Given the description of an element on the screen output the (x, y) to click on. 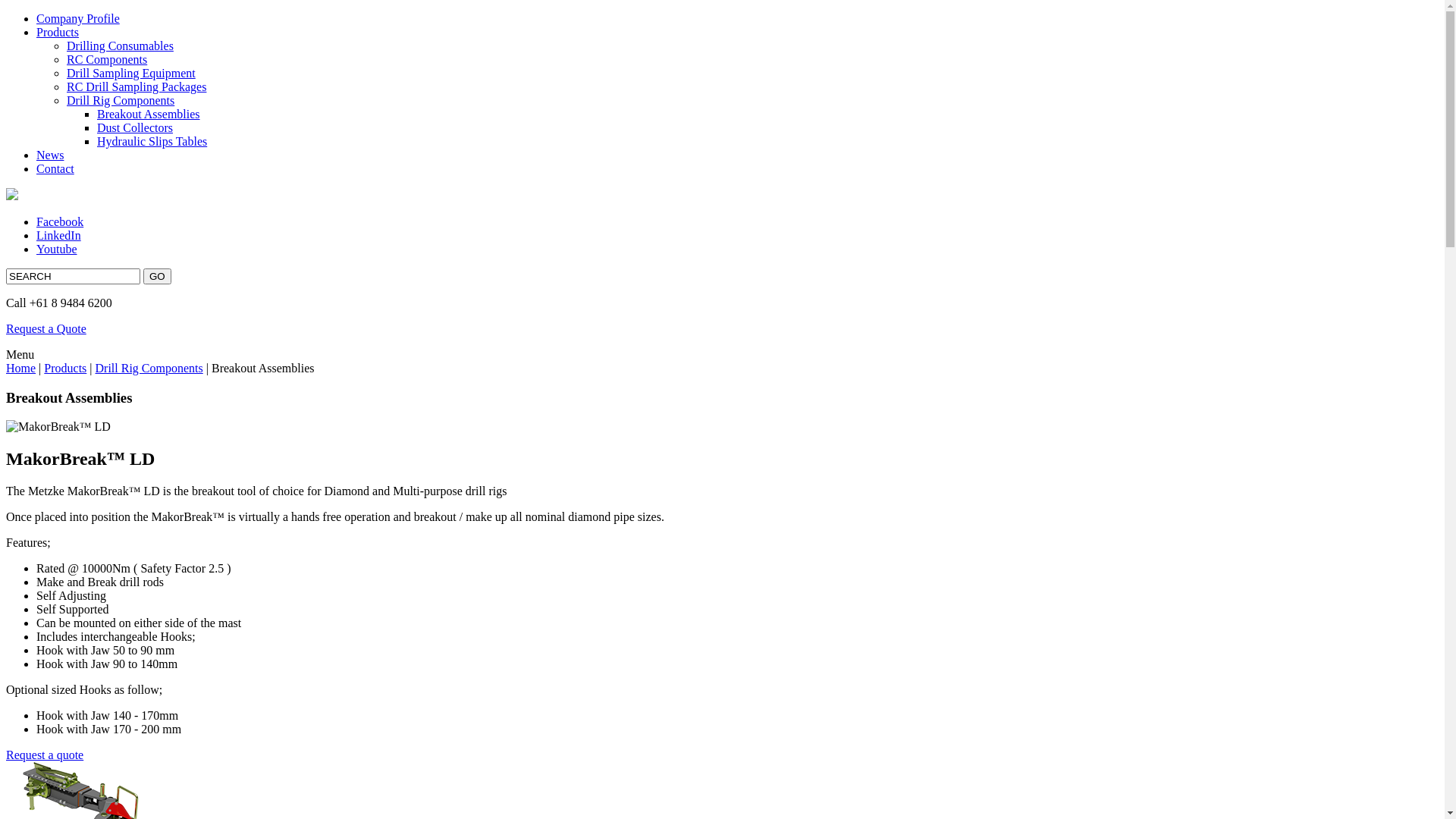
LinkedIn Element type: text (58, 235)
Contact Element type: text (55, 168)
Drilling Consumables Element type: text (119, 45)
Drill Sampling Equipment Element type: text (130, 72)
Drill Rig Components Element type: text (120, 100)
Menu Element type: text (20, 354)
Company Profile Element type: text (77, 18)
RC Components Element type: text (106, 59)
Dust Collectors Element type: text (134, 127)
Facebook Element type: text (59, 221)
Home Element type: text (20, 367)
RC Drill Sampling Packages Element type: text (136, 86)
Youtube Element type: text (56, 248)
Products Element type: text (57, 31)
Drill Rig Components Element type: text (149, 367)
News Element type: text (49, 154)
Request a Quote Element type: text (46, 328)
Hydraulic Slips Tables Element type: text (152, 140)
Products Element type: text (64, 367)
Request a quote Element type: text (44, 754)
Breakout Assemblies Element type: text (148, 113)
GO Element type: text (157, 276)
